Given the description of an element on the screen output the (x, y) to click on. 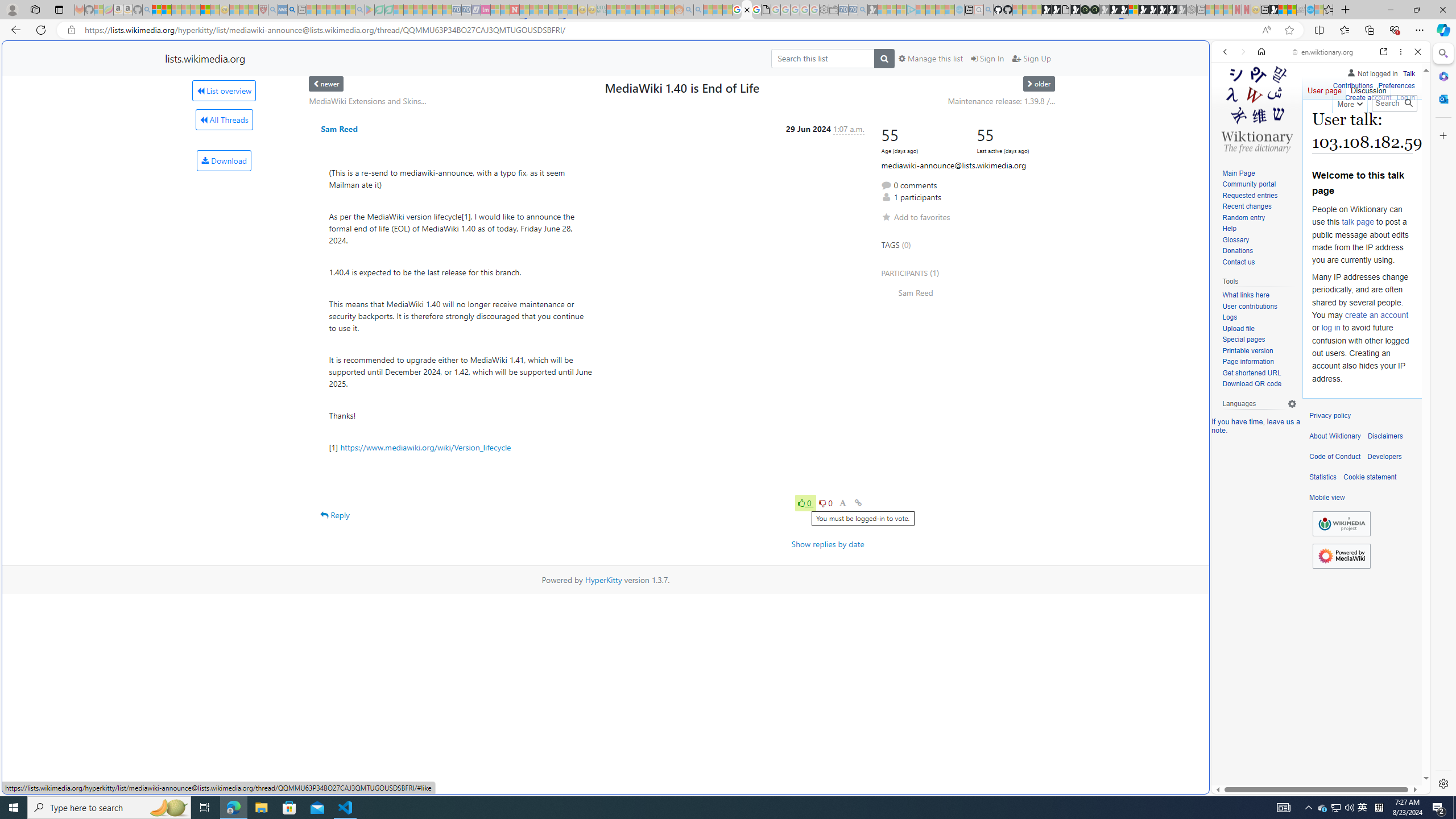
log in (1330, 327)
Privacy policy (1329, 415)
Random entry (1243, 216)
Maintenance release: 1.39.8 /... (1001, 100)
Code of Conduct (1334, 456)
User page (1324, 87)
